Given the description of an element on the screen output the (x, y) to click on. 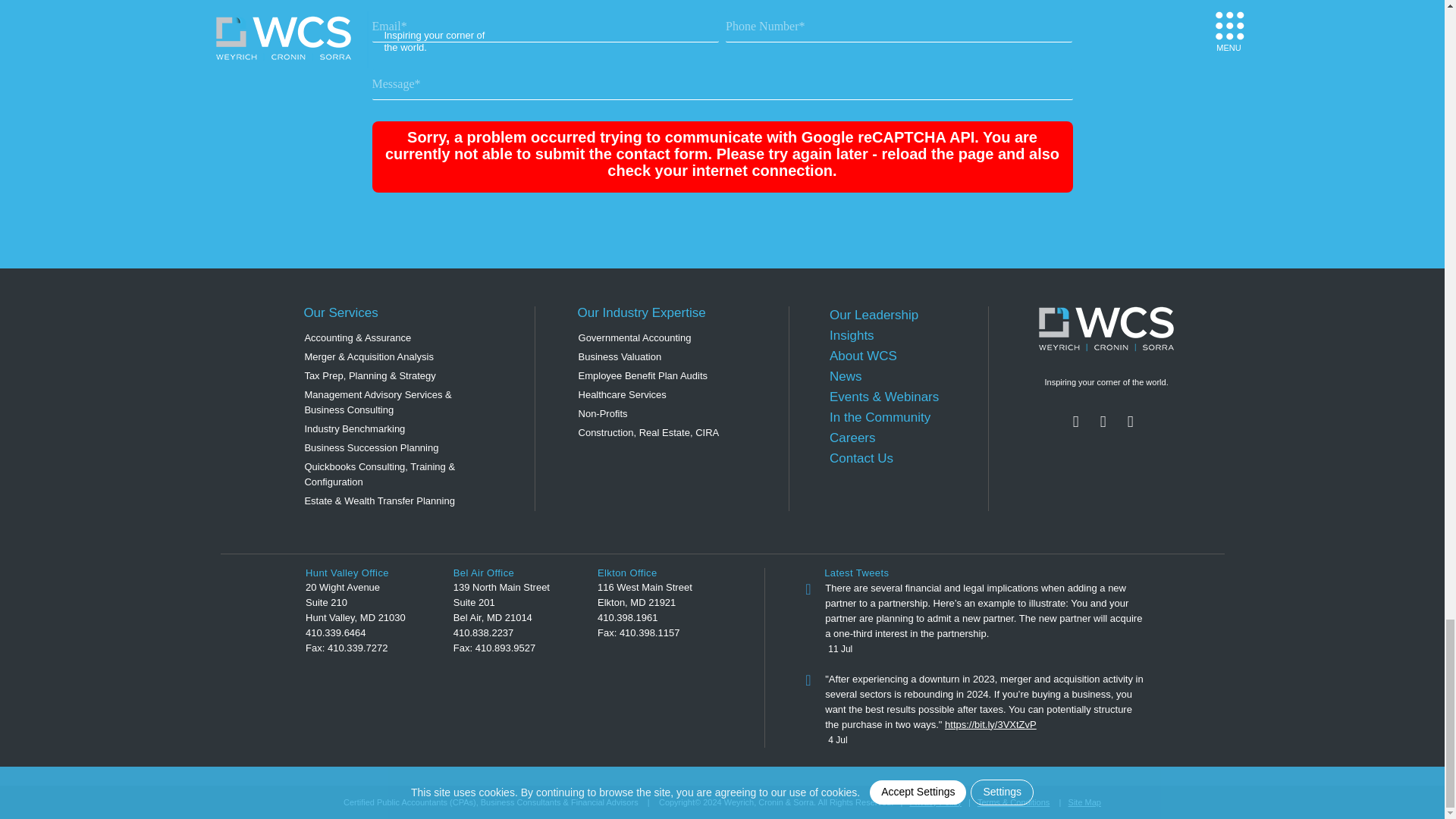
1x-logo-no-tagline (1106, 329)
